Given the description of an element on the screen output the (x, y) to click on. 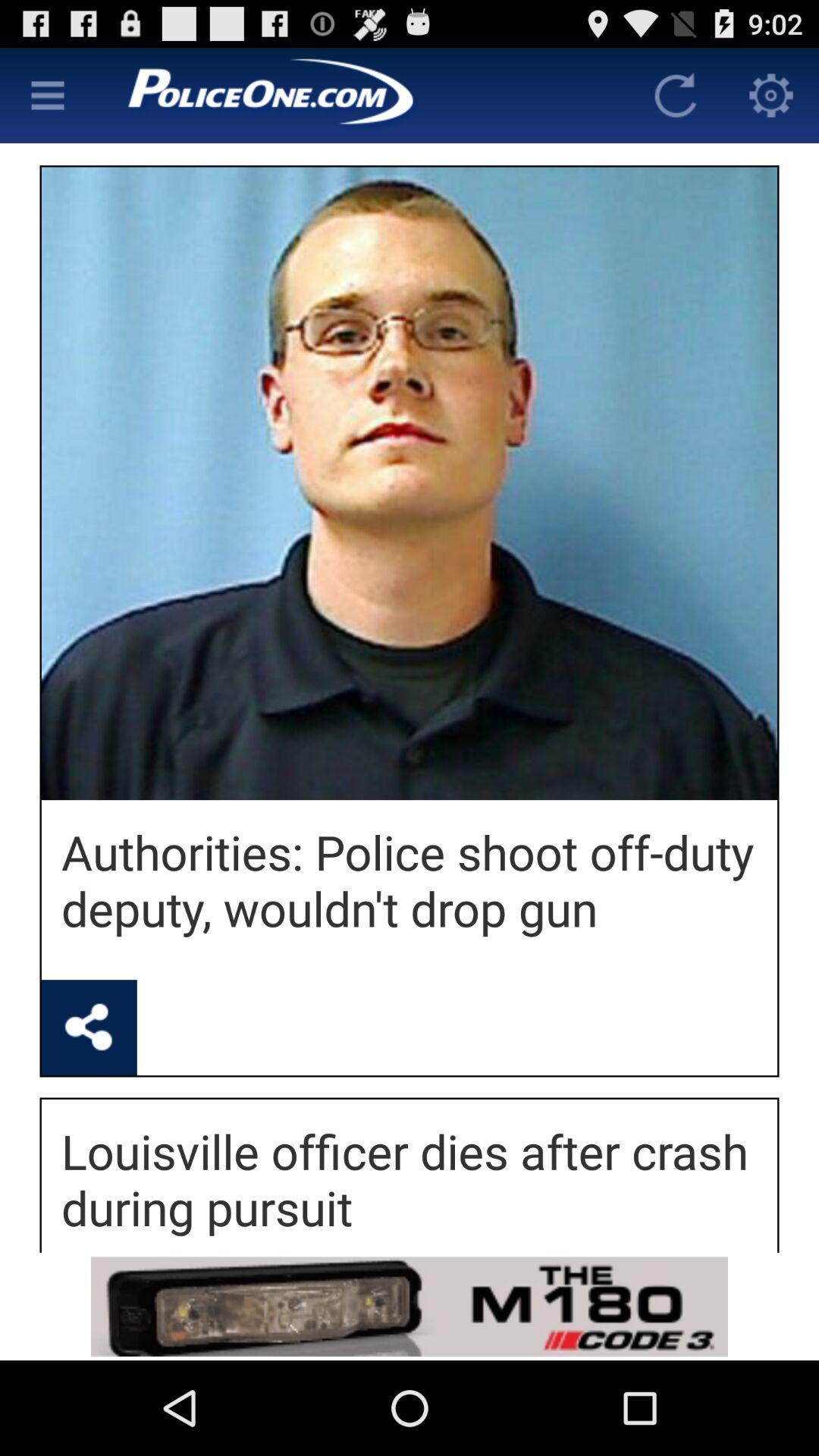
settings (771, 95)
